Given the description of an element on the screen output the (x, y) to click on. 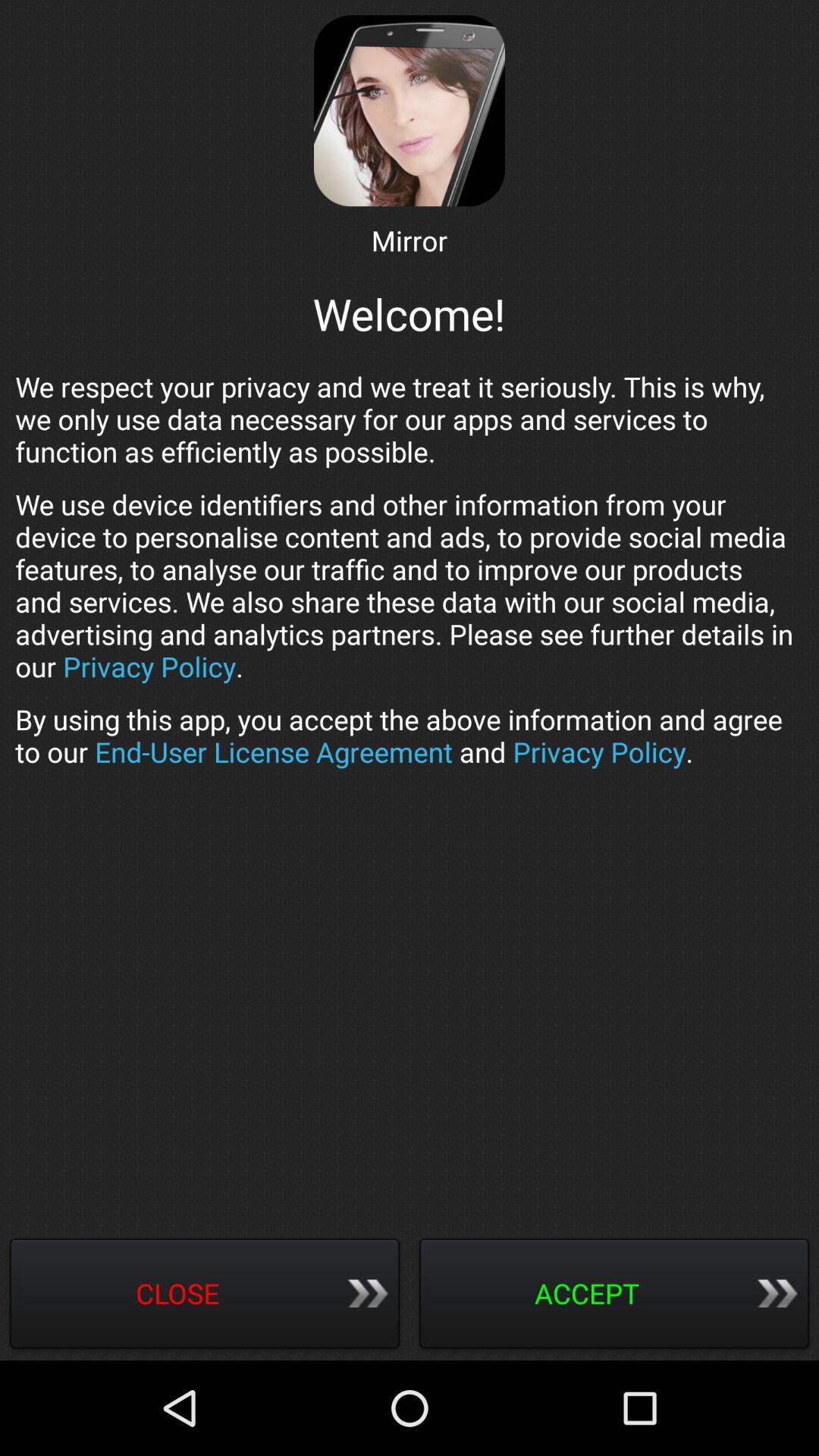
click button above the close icon (409, 735)
